Given the description of an element on the screen output the (x, y) to click on. 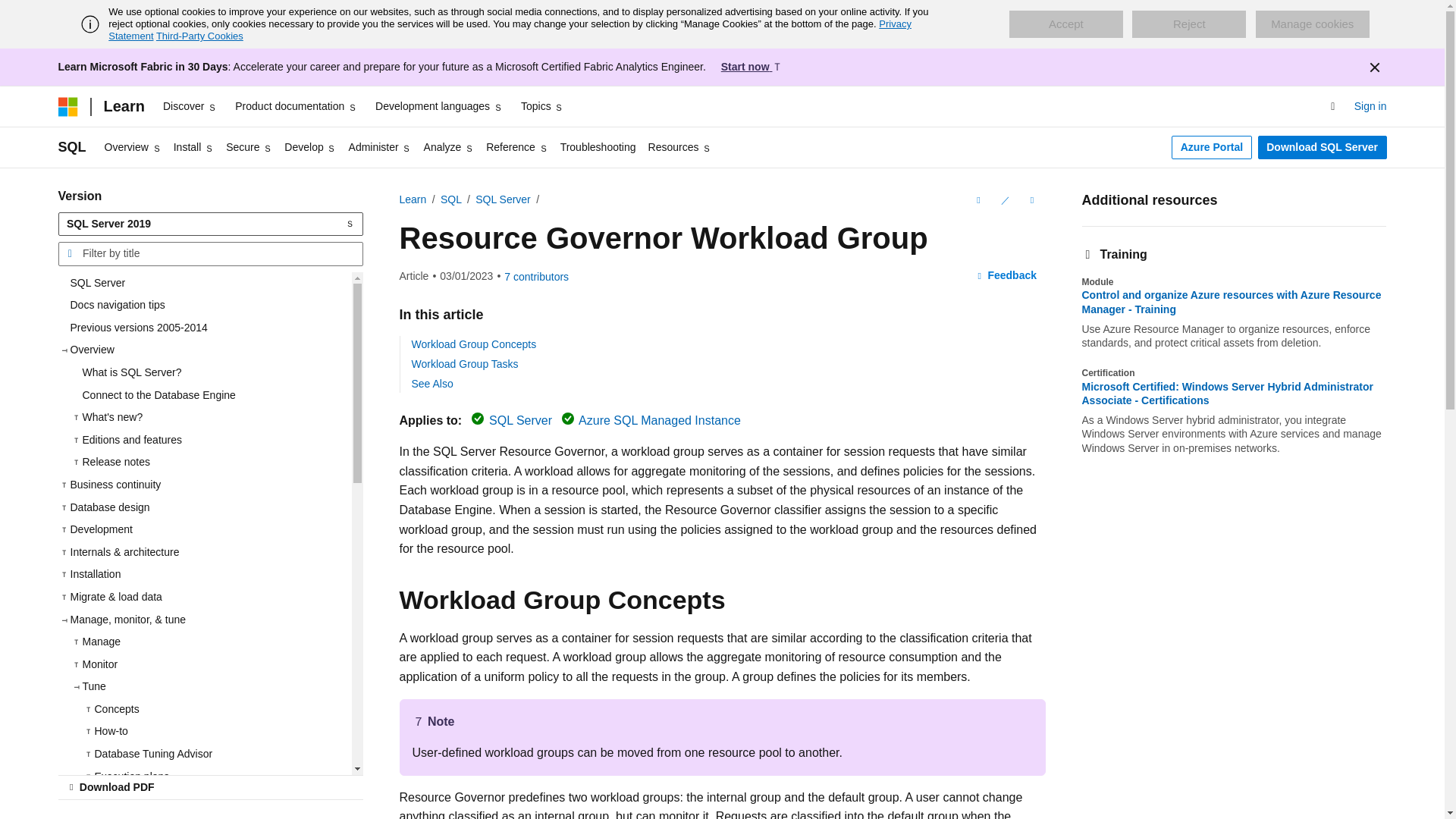
Development languages (438, 106)
Manage cookies (1312, 23)
SQL (71, 147)
Start now (751, 66)
Overview (133, 147)
Skip to main content (11, 11)
Product documentation (295, 106)
More actions (1031, 200)
Accept (1065, 23)
Reject (1189, 23)
